Given the description of an element on the screen output the (x, y) to click on. 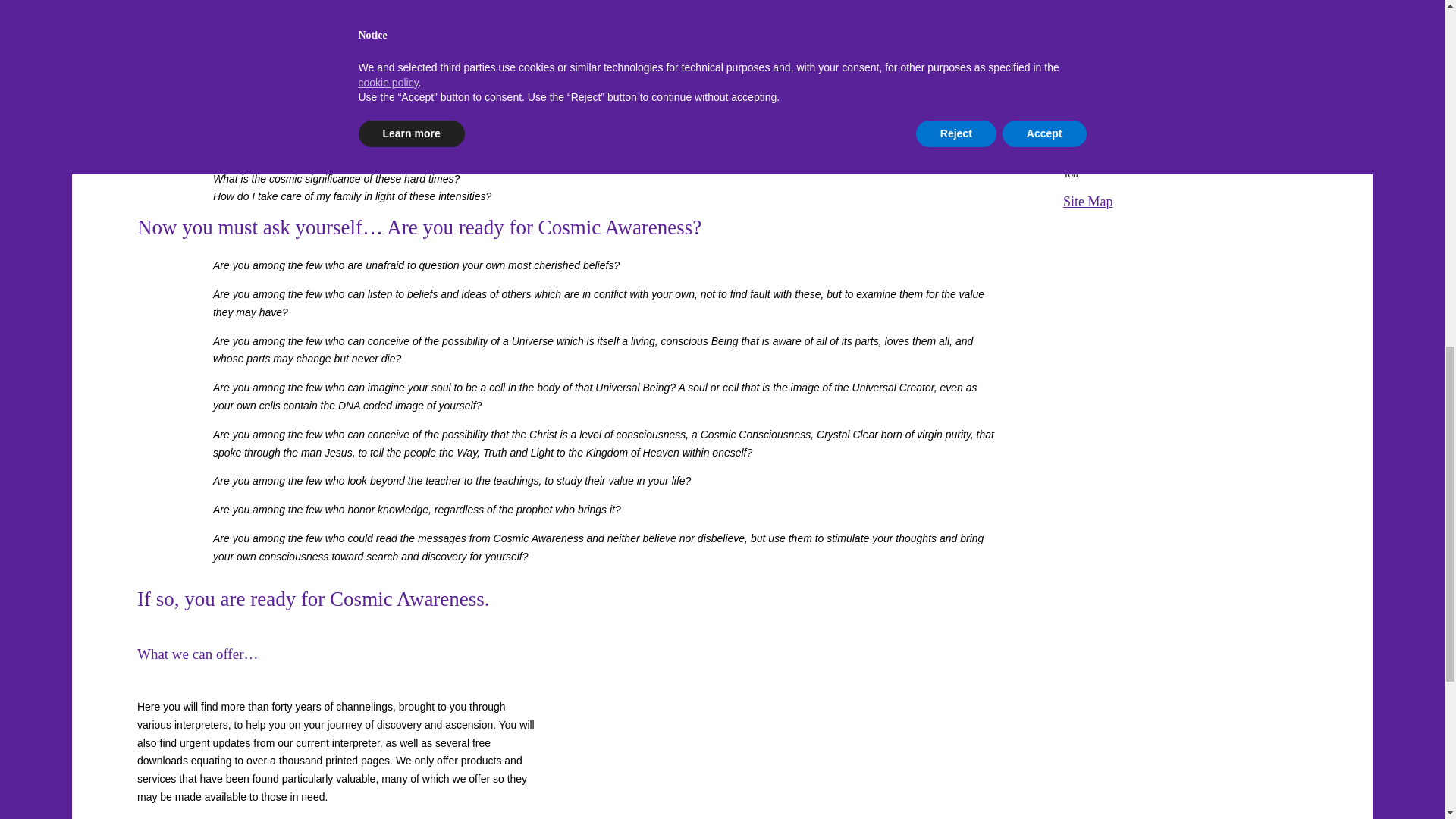
Millennium Tree by Josephine Wall (798, 703)
Site Map (1087, 201)
AmazonSmile (1184, 11)
Site Map (1087, 201)
